Given the description of an element on the screen output the (x, y) to click on. 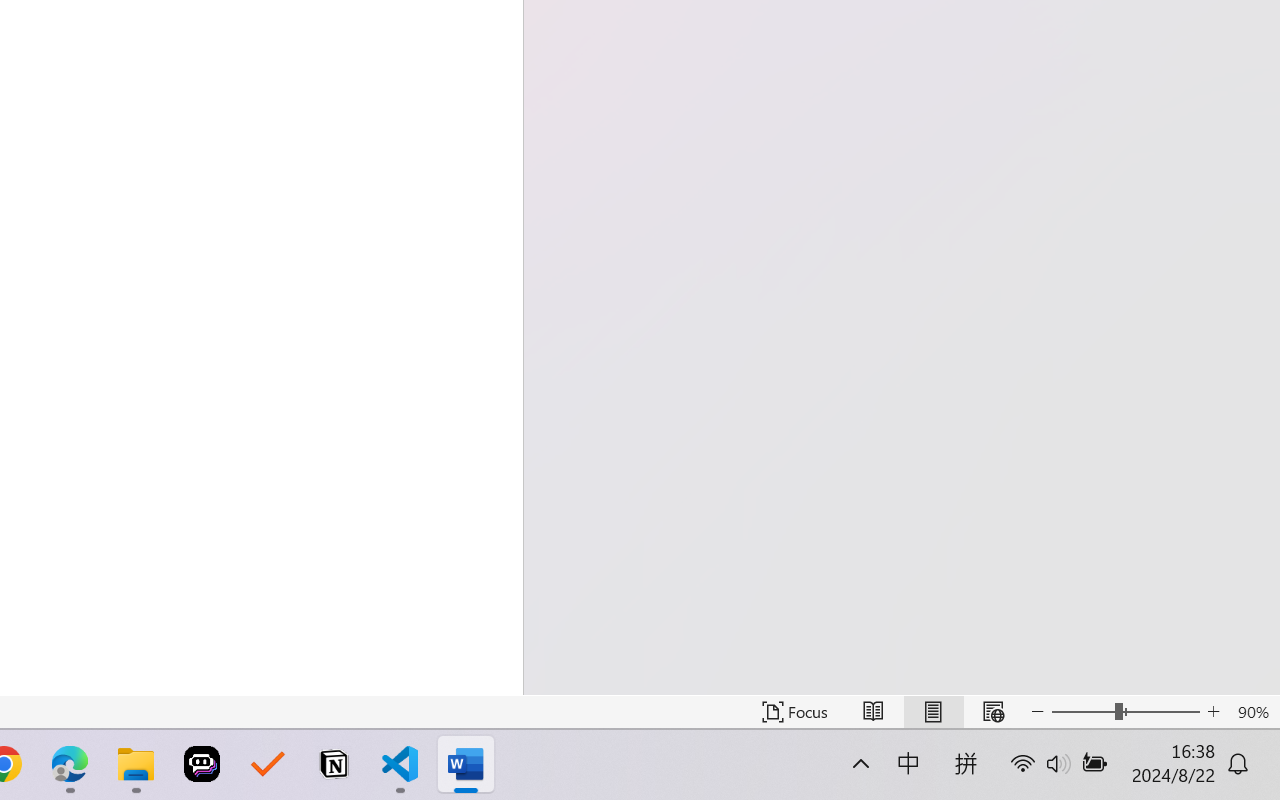
Zoom 90% (1253, 712)
